Given the description of an element on the screen output the (x, y) to click on. 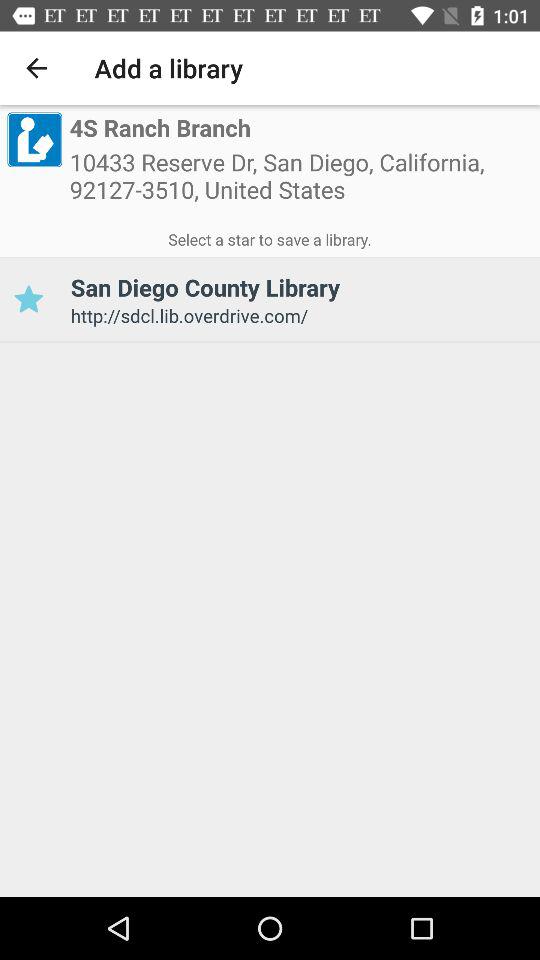
launch item below select a star (28, 299)
